Given the description of an element on the screen output the (x, y) to click on. 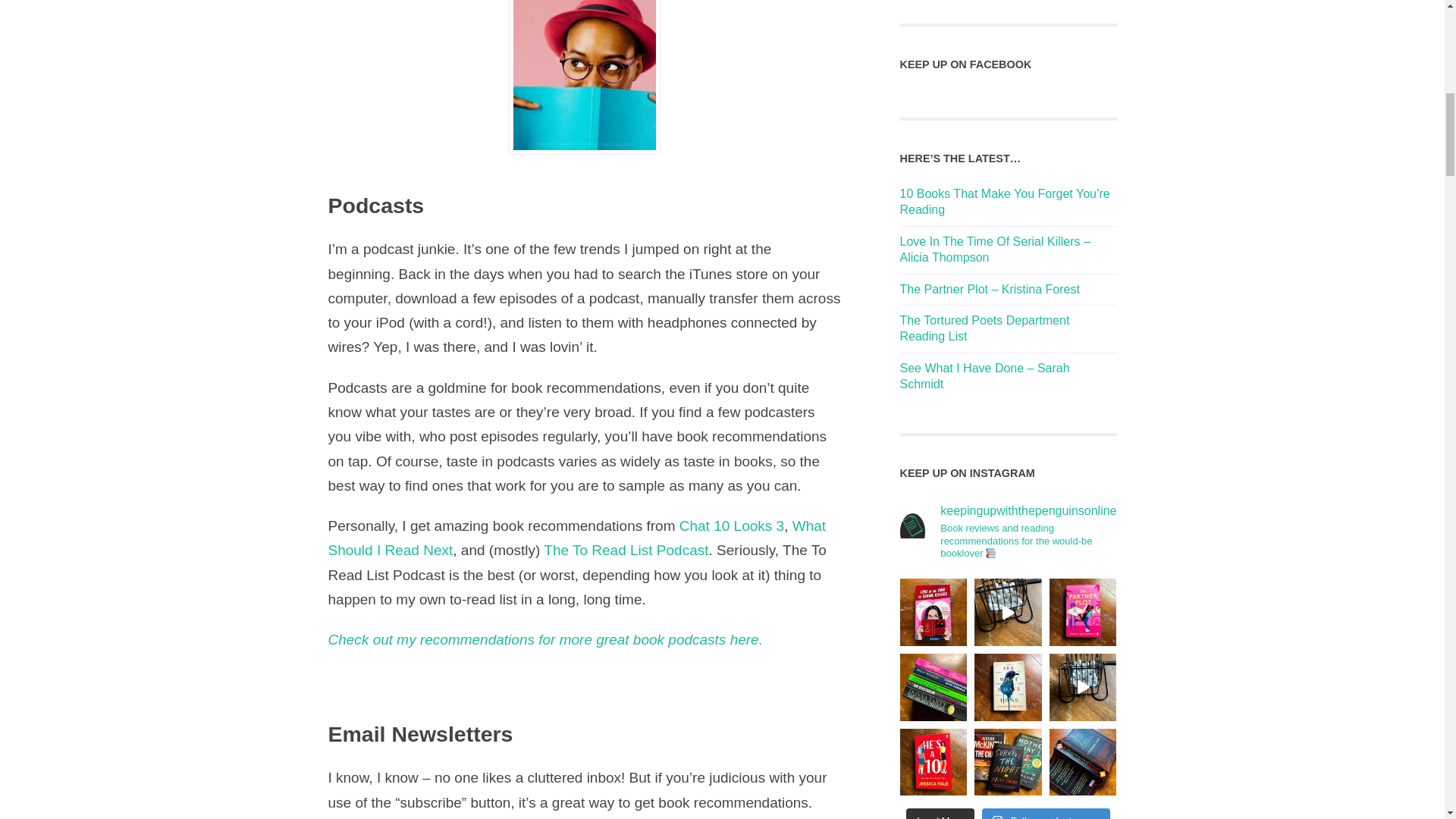
Chat 10 Looks 3 (731, 525)
What Should I Read Next (576, 537)
The To Read List Podcast (625, 549)
